Given the description of an element on the screen output the (x, y) to click on. 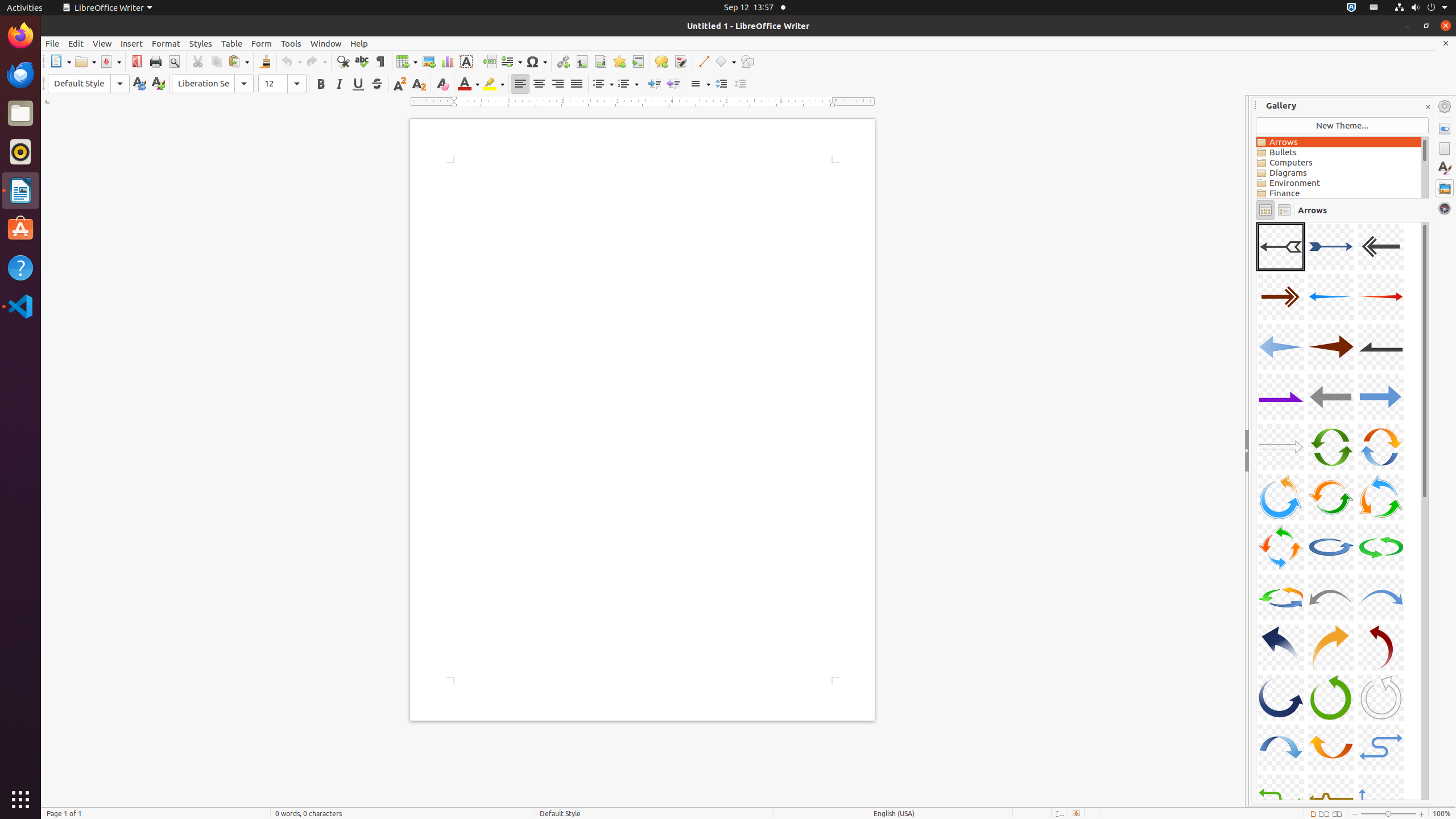
Right Element type: toggle-button (557, 83)
Bullets Element type: push-button (602, 83)
System Element type: menu (1420, 7)
:1.72/StatusNotifierItem Element type: menu (1350, 7)
A14-CircleArrow-Green Element type: list-item (1330, 446)
